Given the description of an element on the screen output the (x, y) to click on. 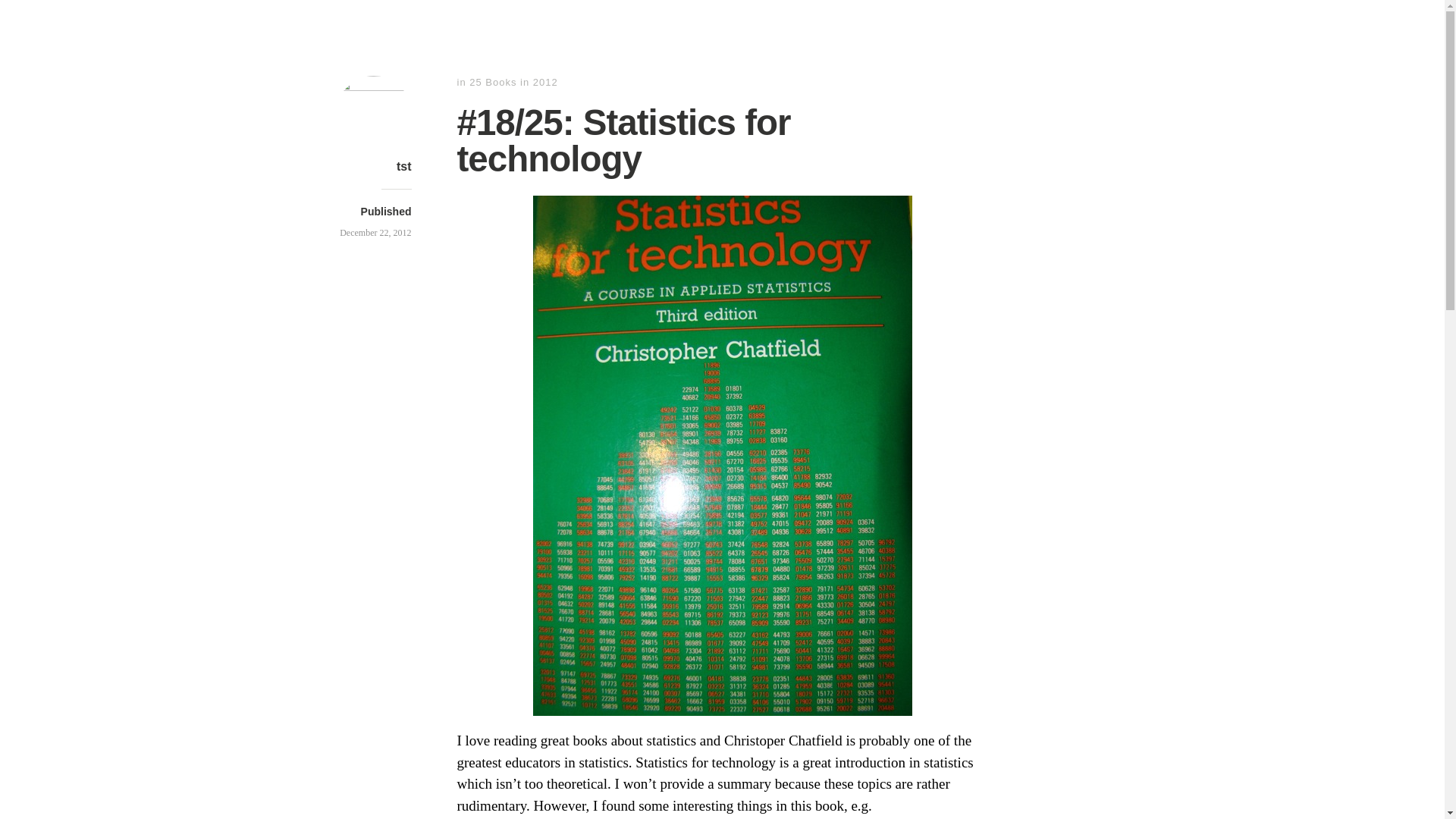
25 Books in 2012 (512, 81)
December 22, 2012 (374, 232)
tst (404, 165)
View all posts by tst (404, 165)
